Given the description of an element on the screen output the (x, y) to click on. 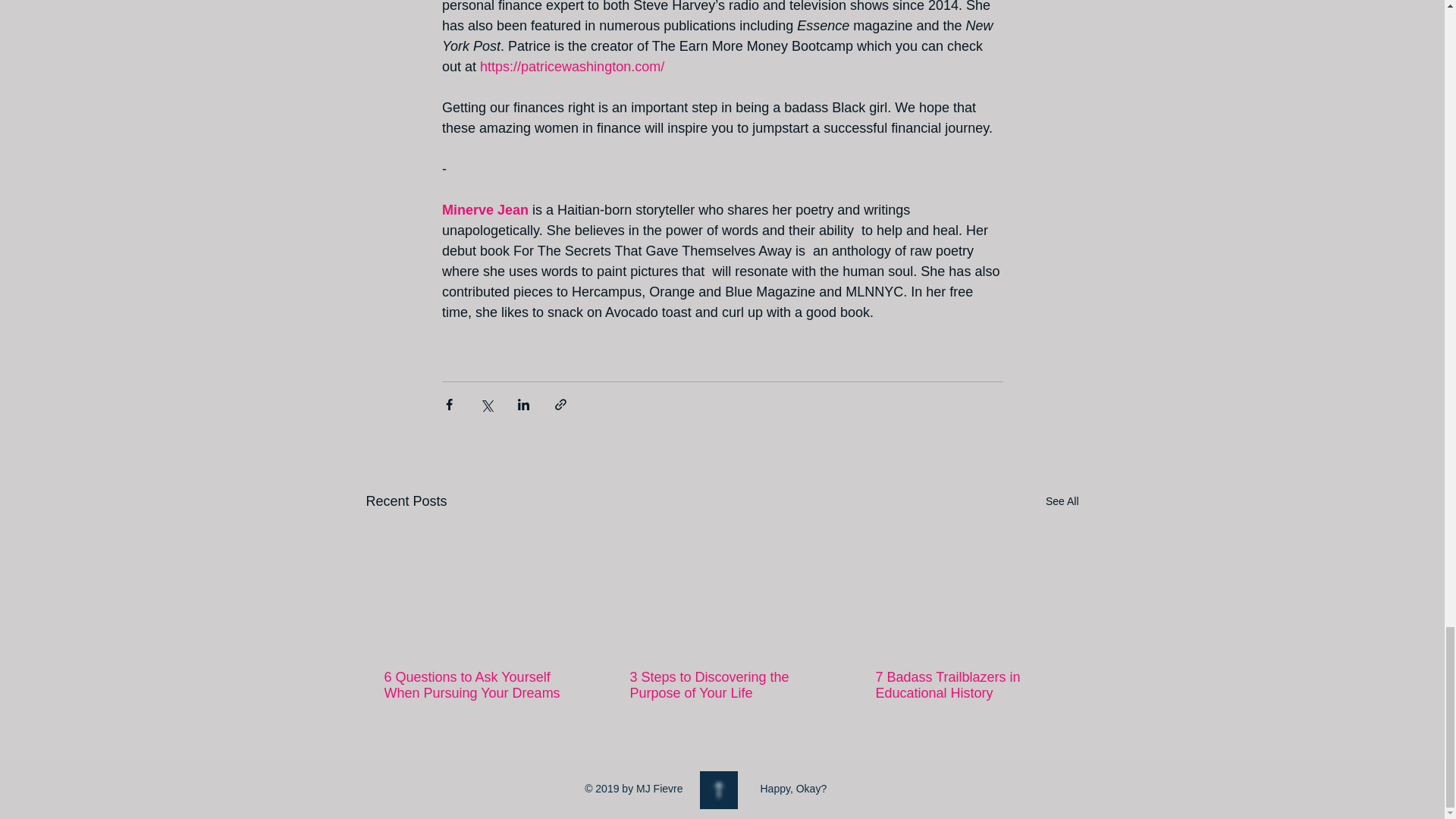
7 Badass Trailblazers in Educational History (966, 685)
Minerve Jean (484, 209)
3 Steps to Discovering the Purpose of Your Life (720, 685)
6 Questions to Ask Yourself When Pursuing Your Dreams (475, 685)
See All (1061, 501)
